Given the description of an element on the screen output the (x, y) to click on. 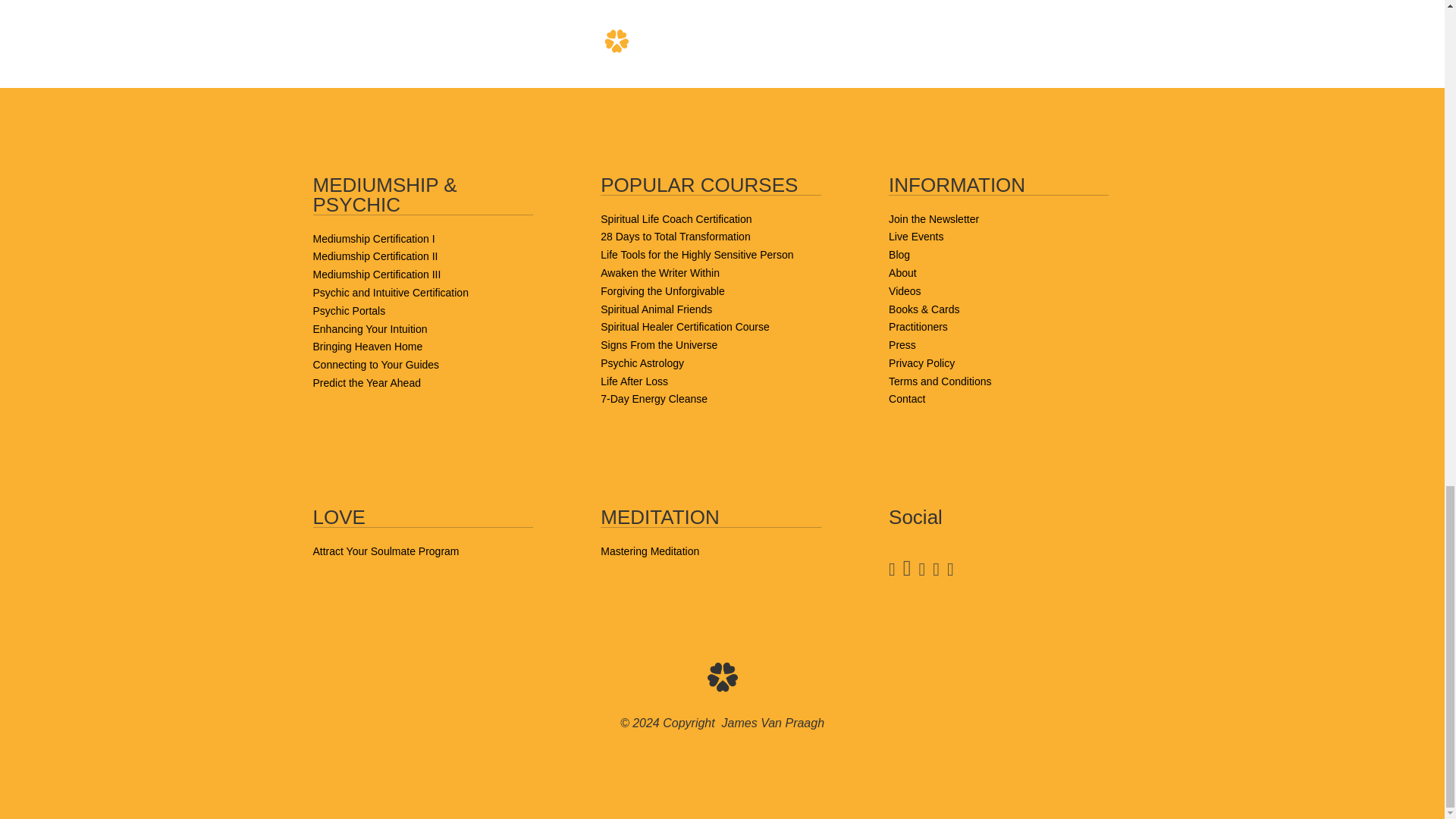
Mediumship Certification III (377, 274)
Connecting to Your Guides (376, 364)
Mediumship Certification II (375, 256)
Mediumship Certification I (373, 238)
28 Days to Total Transformation (674, 236)
Spiritual Life Coach Certification (675, 218)
Bringing Heaven Home (367, 346)
Enhancing Your Intuition (369, 328)
Life Tools for the Highly Sensitive Person (696, 254)
Psychic Portals (349, 310)
Awaken the Writer Within (659, 272)
Psychic and Intuitive Certification (390, 292)
Forgiving the Unforgivable (661, 291)
Predict the Year Ahead (366, 382)
JVP-Logo-white-2 (721, 676)
